Given the description of an element on the screen output the (x, y) to click on. 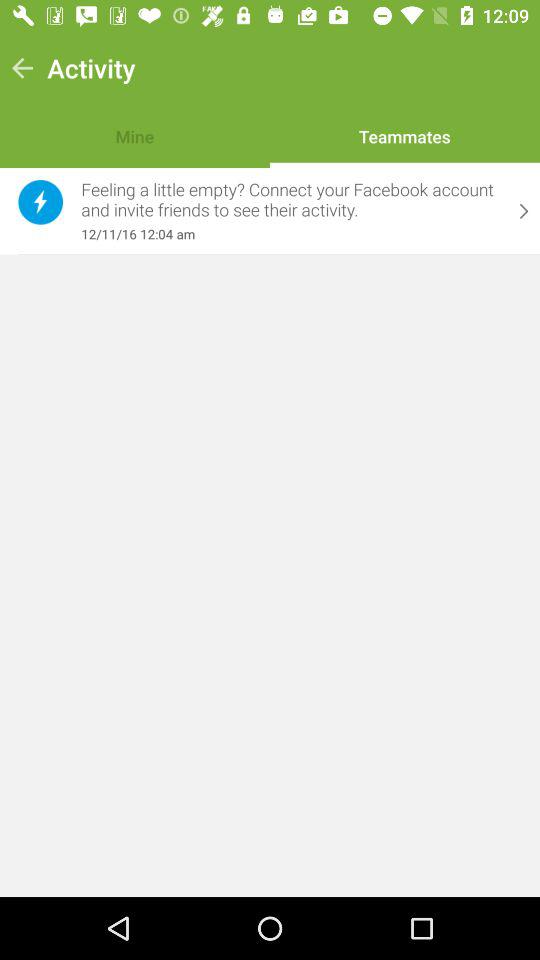
choose the icon to the left of feeling a little icon (40, 202)
